Given the description of an element on the screen output the (x, y) to click on. 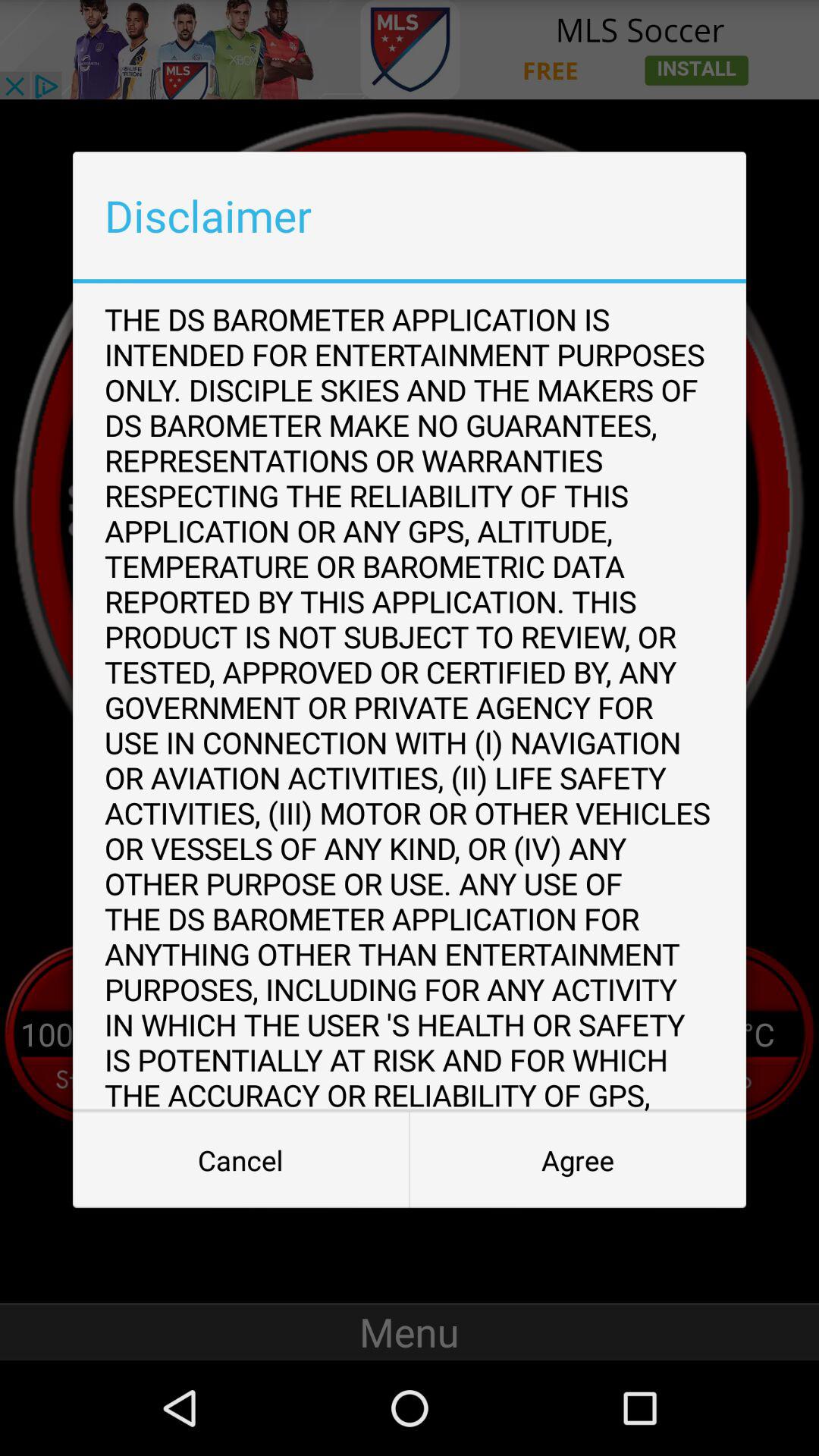
click the item to the left of the agree button (240, 1160)
